Given the description of an element on the screen output the (x, y) to click on. 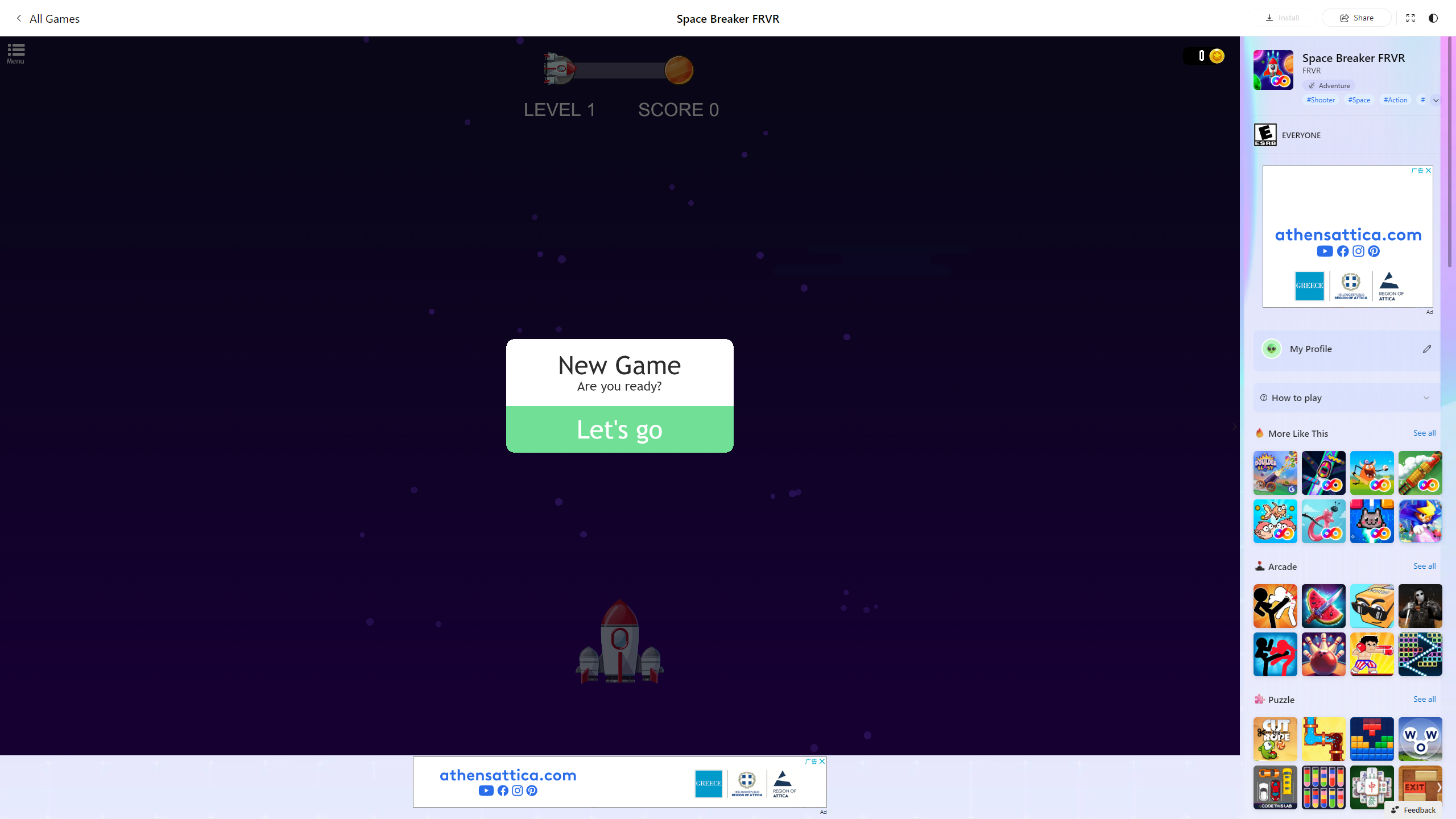
Search or enter web address (922, 108)
See all (1424, 698)
utah sues federal government - Search (922, 389)
#Shooter (1321, 99)
Gold Train FRVR (1420, 472)
Close split screen (1208, 57)
All Games (46, 17)
Parking Block (1275, 787)
EVERYONE (1264, 134)
More Like This (1259, 432)
Monster Bash FRVR (1372, 472)
Cut the Rope (1275, 738)
